Given the description of an element on the screen output the (x, y) to click on. 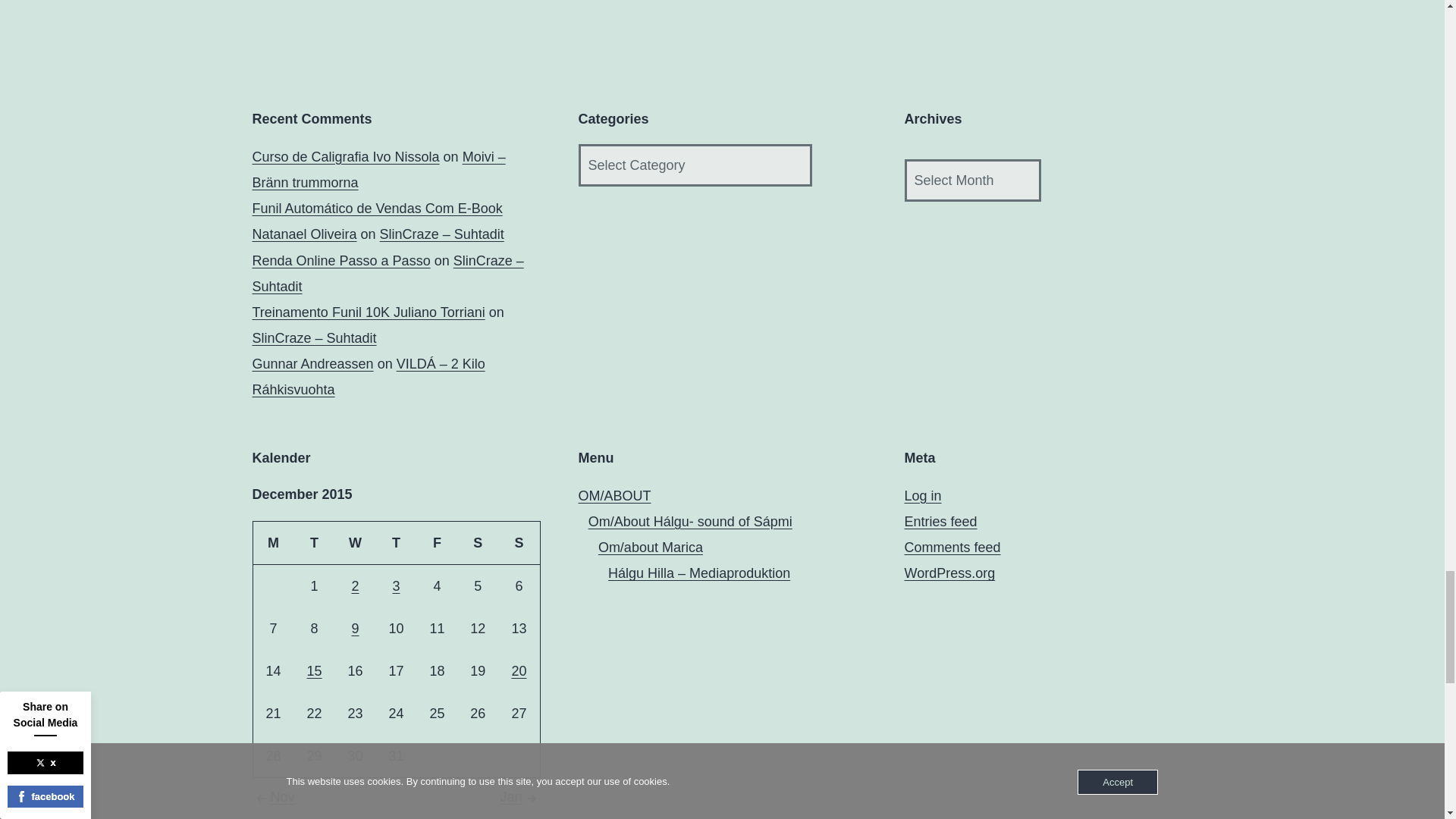
Tuesday (314, 543)
Treinamento Funil 10K Juliano Torriani (367, 312)
Friday (436, 543)
Wednesday (354, 543)
Renda Online Passo a Passo (340, 260)
Sunday (518, 543)
Monday (272, 543)
Thursday (395, 543)
Saturday (477, 543)
Curso de Caligrafia Ivo Nissola (345, 156)
